Given the description of an element on the screen output the (x, y) to click on. 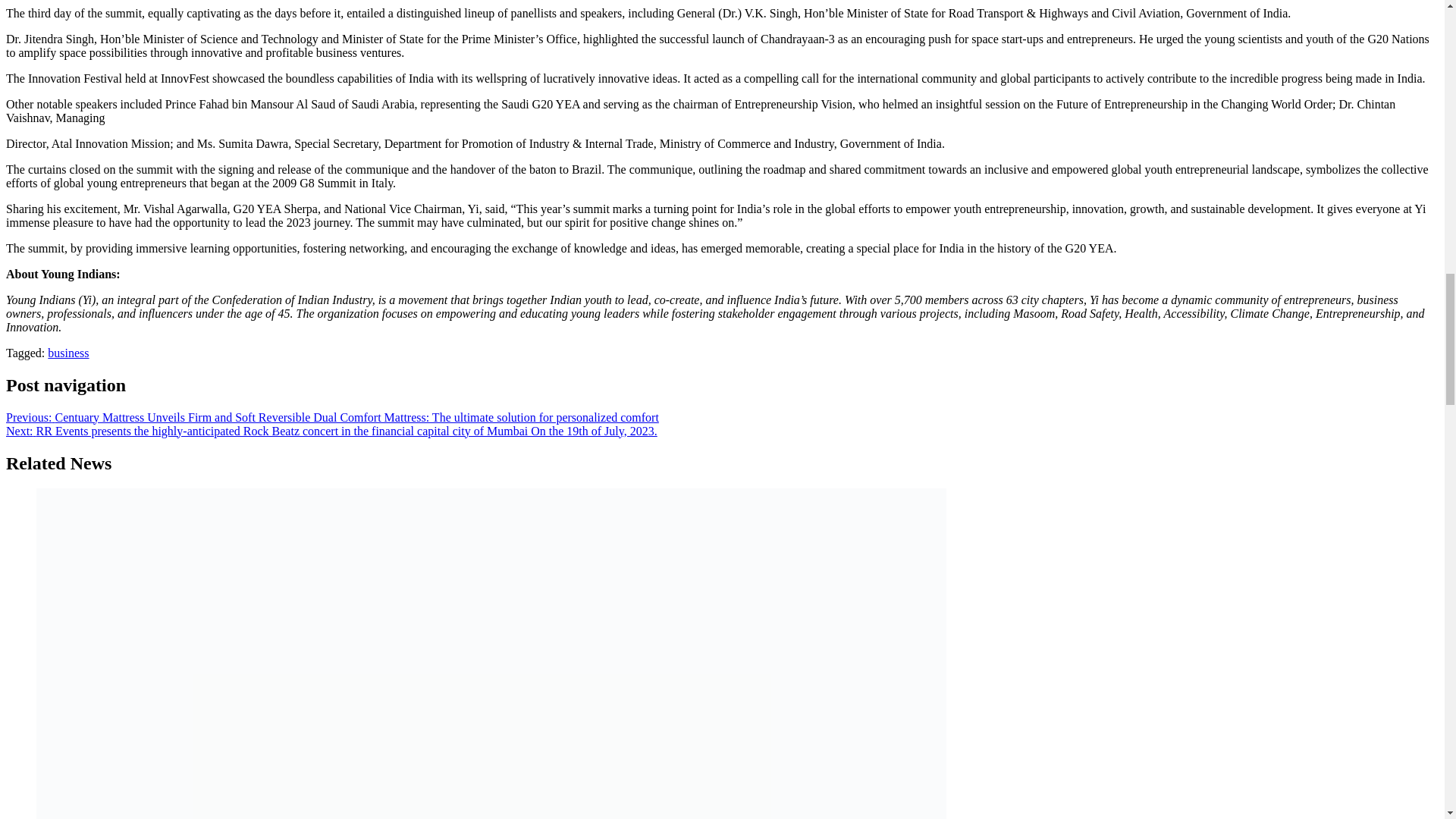
business (68, 352)
